Given the description of an element on the screen output the (x, y) to click on. 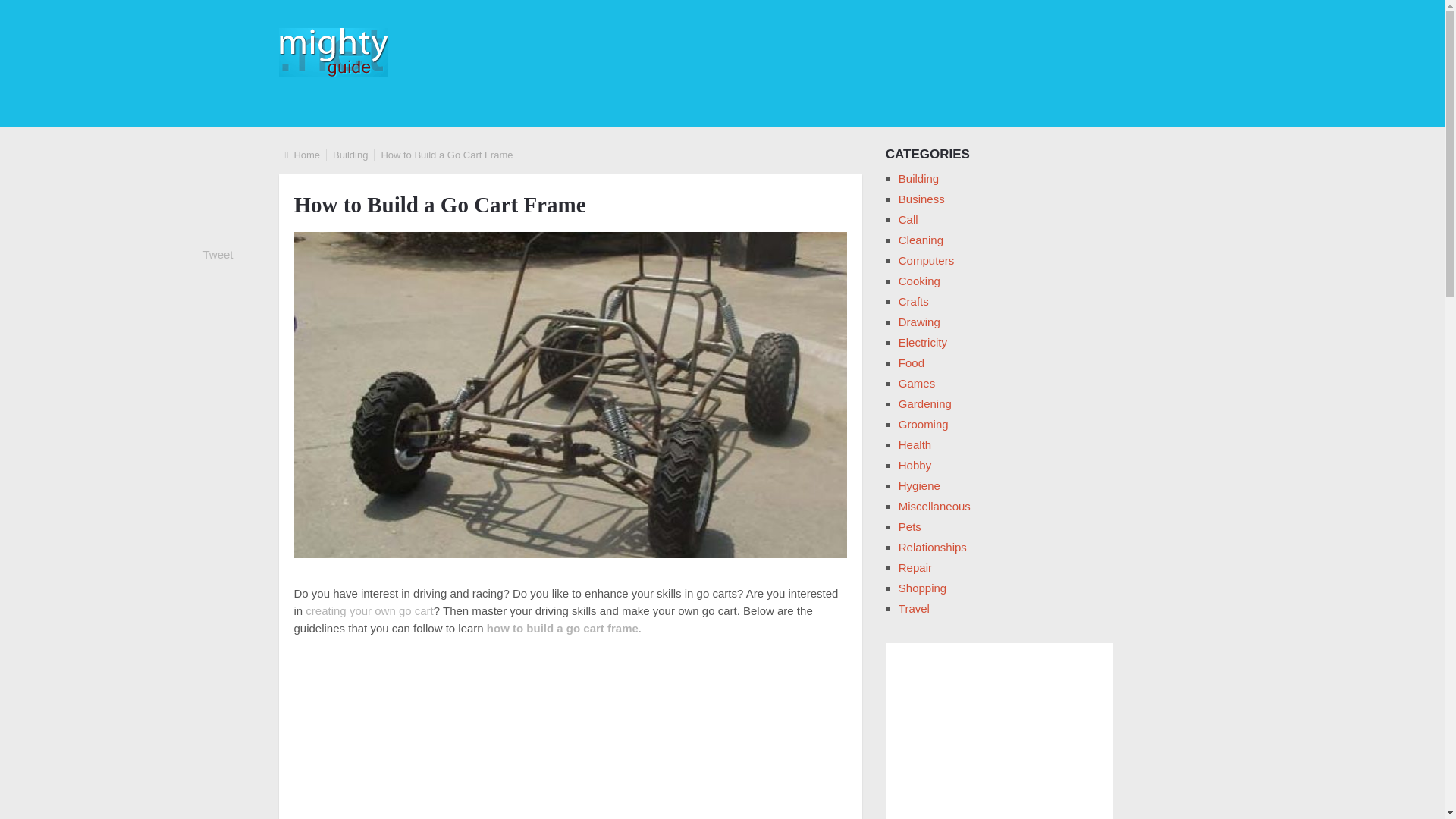
Drawing (919, 321)
Cooking (919, 280)
how to build a go cart frame (562, 627)
Cleaning (920, 239)
Gardening (925, 403)
Advertisement (569, 735)
creating your own go cart (368, 609)
Food (911, 362)
Hygiene (919, 485)
Crafts (913, 300)
